Given the description of an element on the screen output the (x, y) to click on. 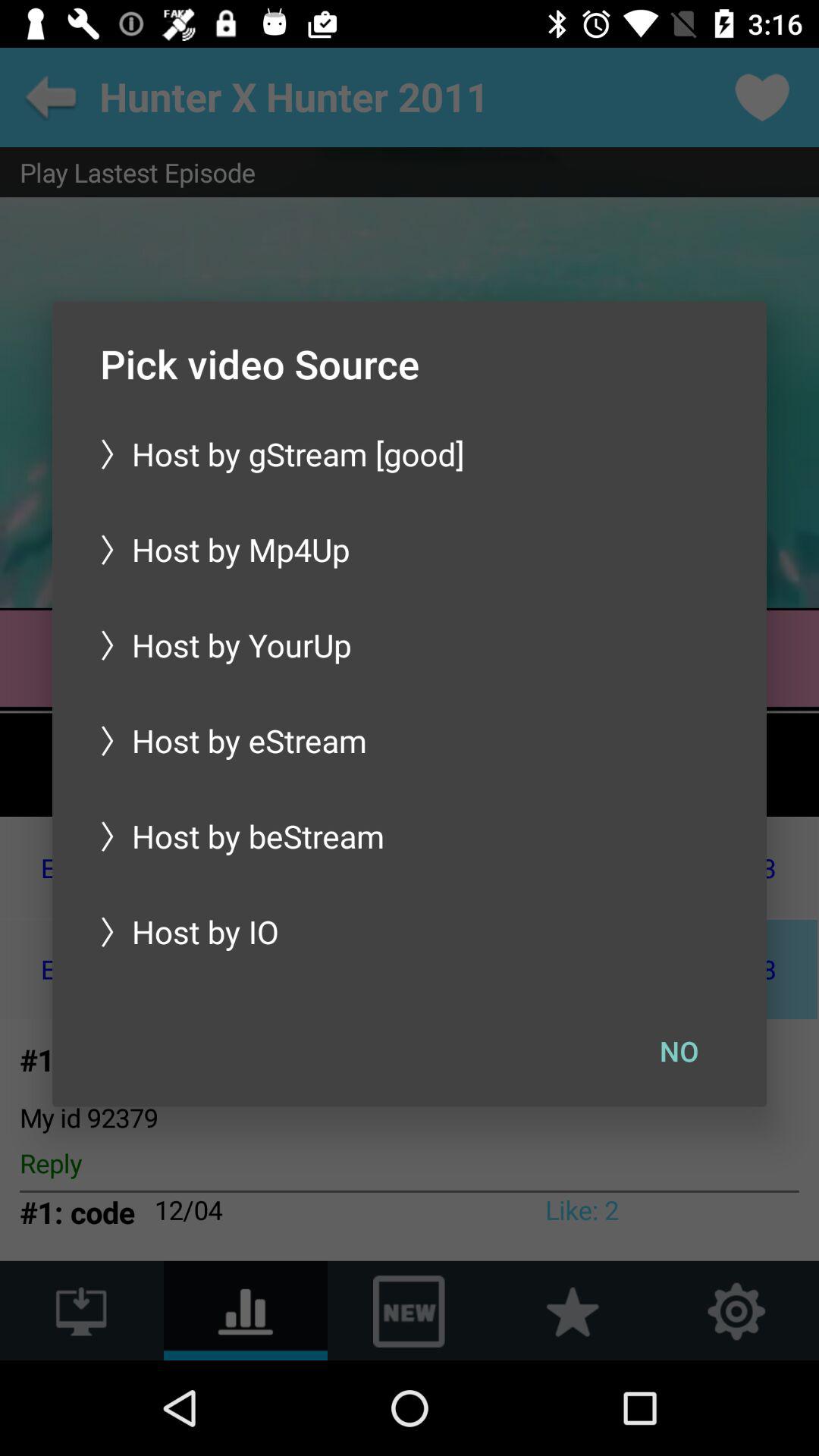
select no icon (678, 1050)
